Given the description of an element on the screen output the (x, y) to click on. 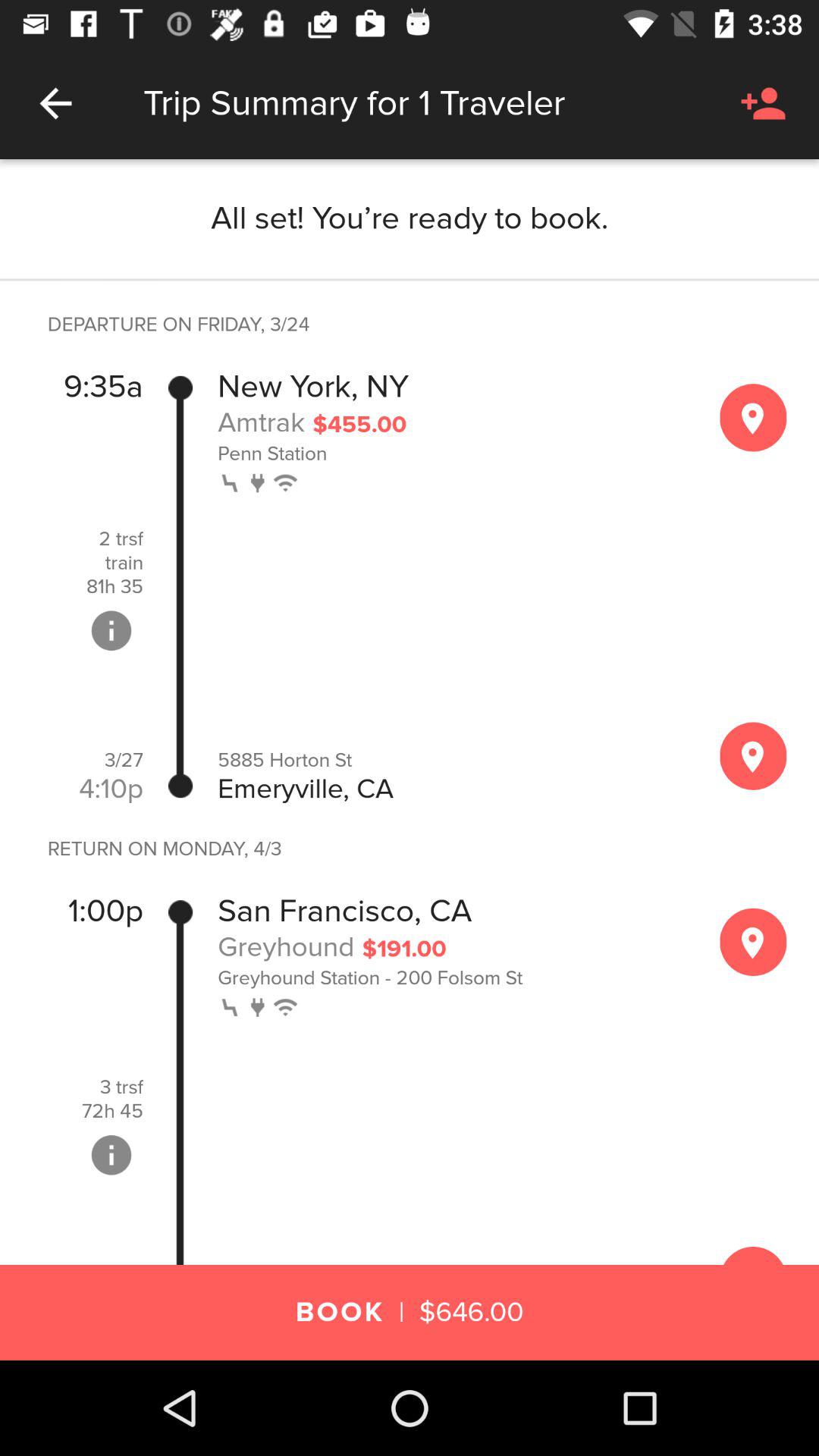
scroll to 9:35a icon (103, 386)
